Given the description of an element on the screen output the (x, y) to click on. 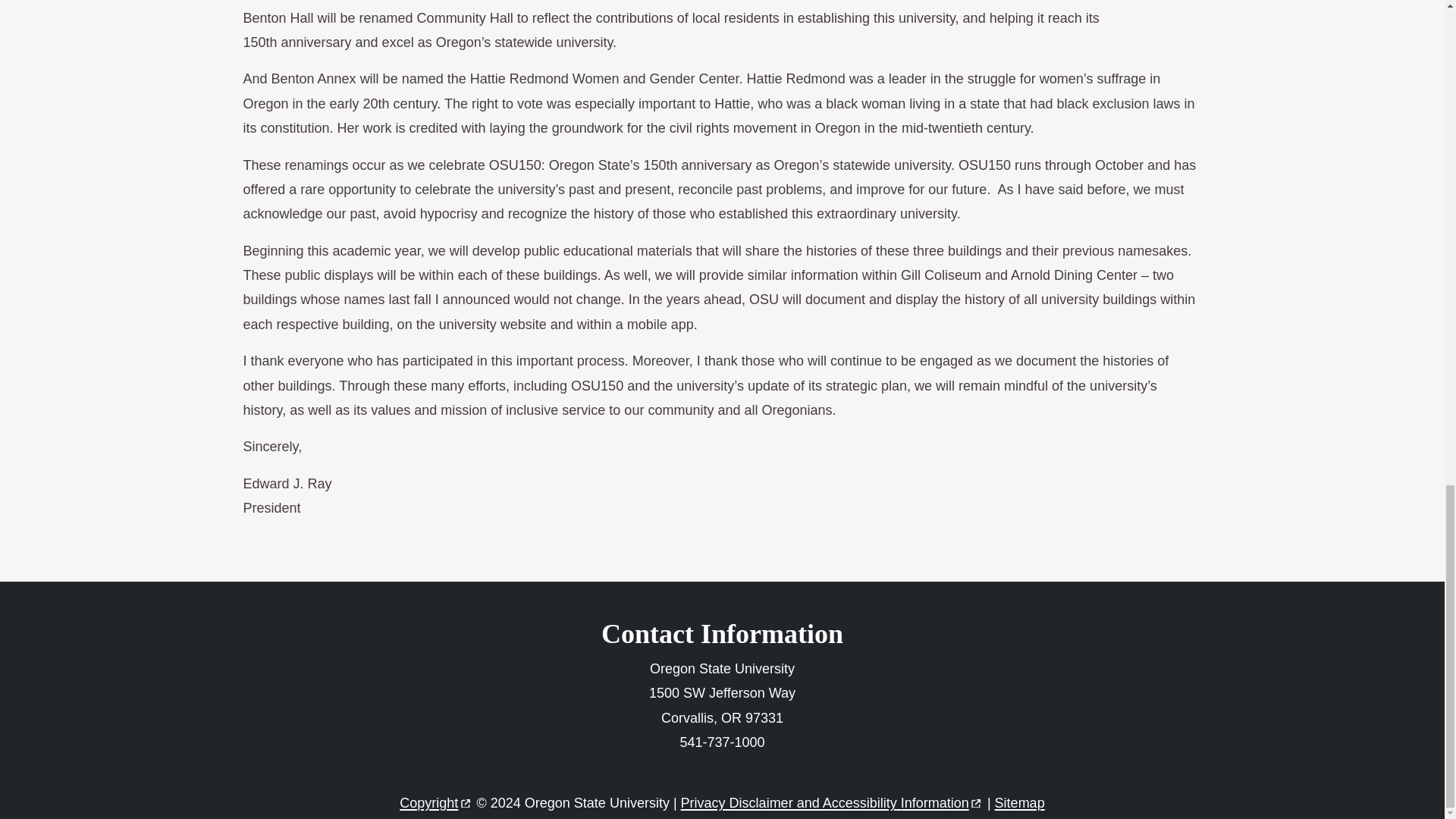
Link is external (975, 799)
Link is external (465, 799)
Sitemap (1019, 802)
